Given the description of an element on the screen output the (x, y) to click on. 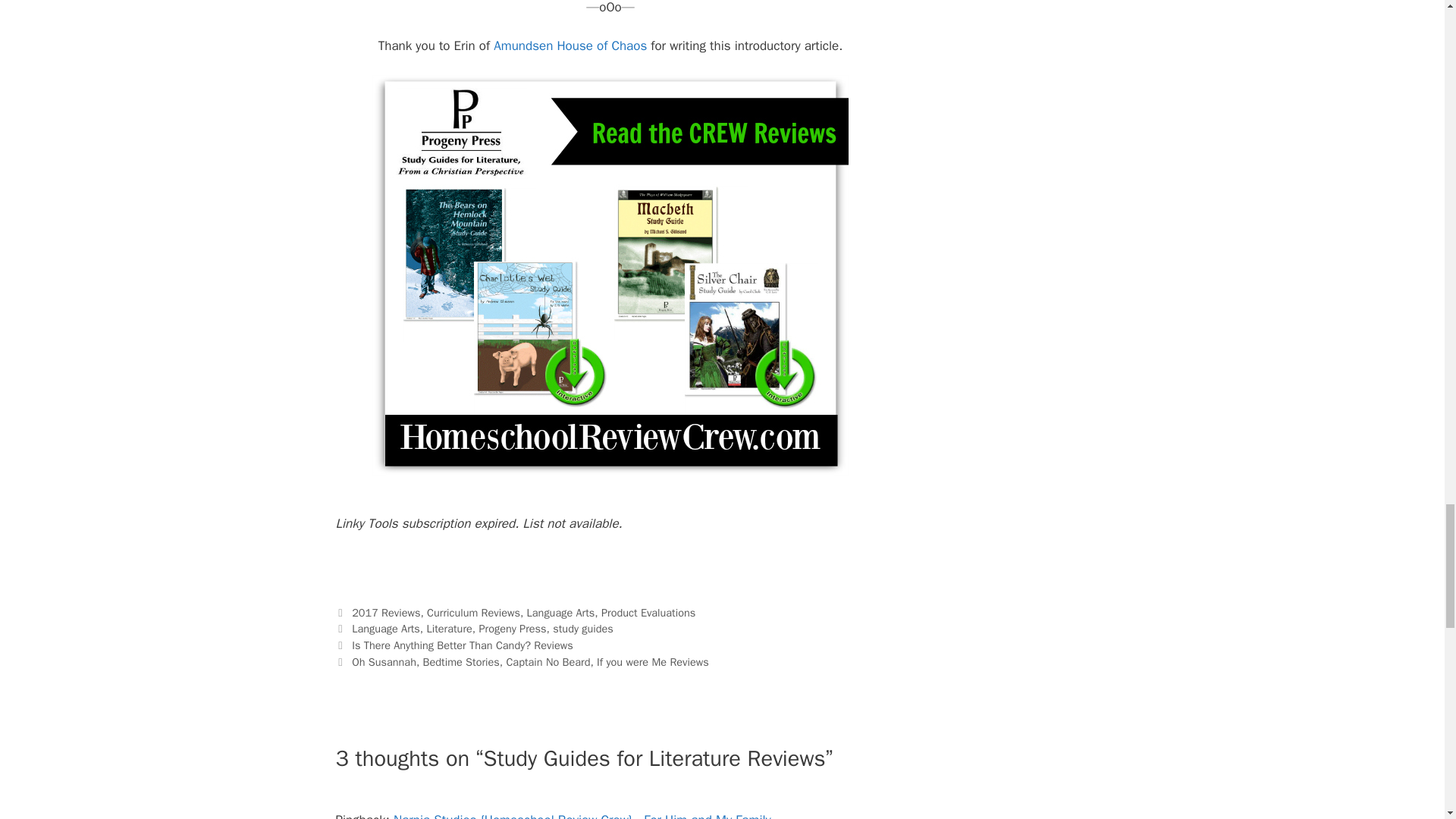
2017 Reviews (386, 612)
Literature (448, 628)
Progeny Press (512, 628)
Amundsen House of Chaos (569, 45)
Language Arts (386, 628)
Product Evaluations (648, 612)
Language Arts (561, 612)
Curriculum Reviews (472, 612)
